Given the description of an element on the screen output the (x, y) to click on. 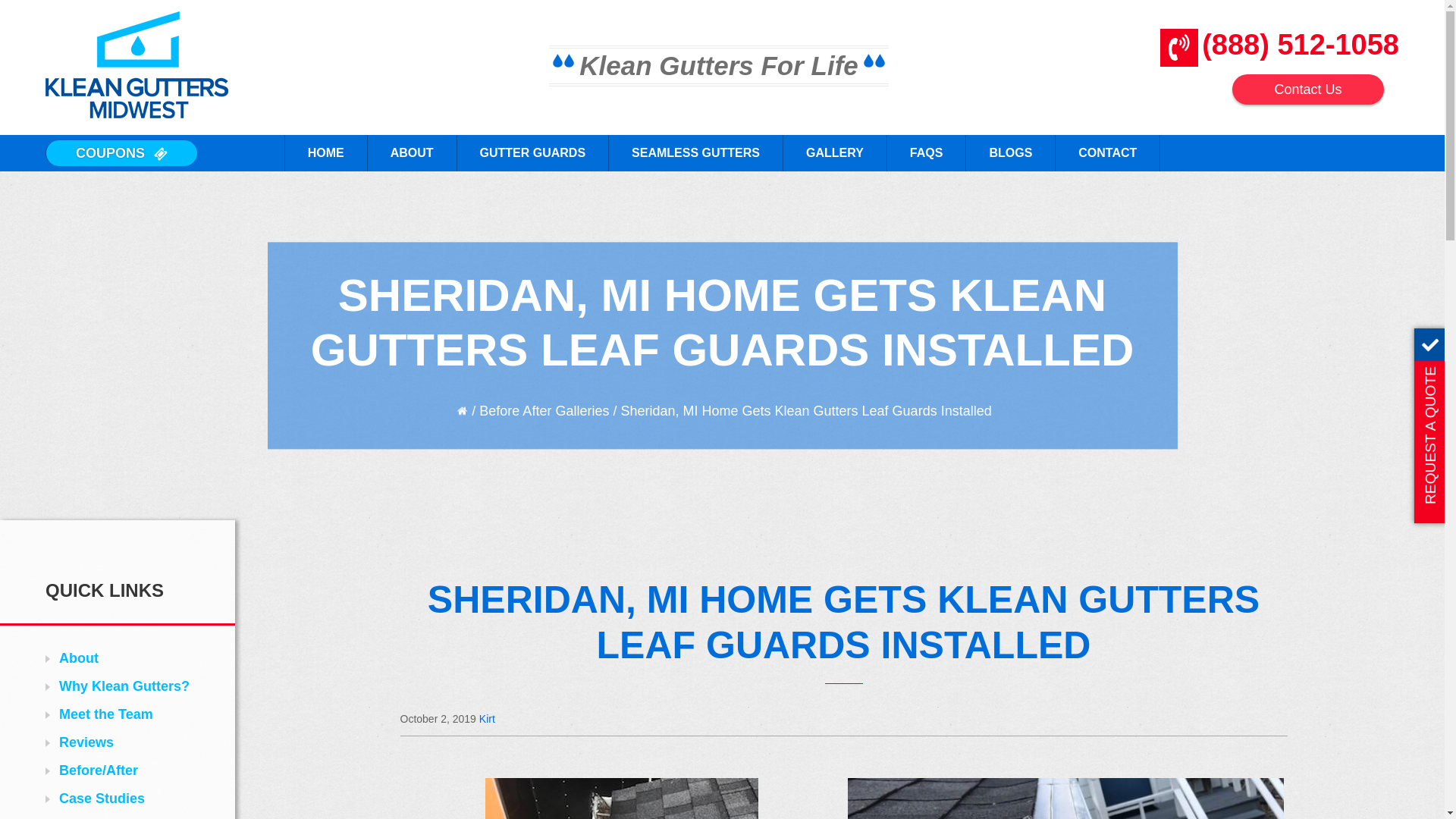
Contact Us (1307, 89)
CONTACT (1107, 153)
Klean Gutters Midwest (136, 64)
GUTTER GUARDS (532, 153)
COUPONS (120, 153)
Lifetime Guaranteed Leaf Guard - Before (621, 798)
HOME (324, 153)
GALLERY (834, 153)
Lifetime Guaranteed Leaf Guard - After (1065, 798)
FAQS (926, 153)
ABOUT (411, 153)
Kirt (487, 718)
BLOGS (1009, 153)
SEAMLESS GUTTERS (695, 153)
